Given the description of an element on the screen output the (x, y) to click on. 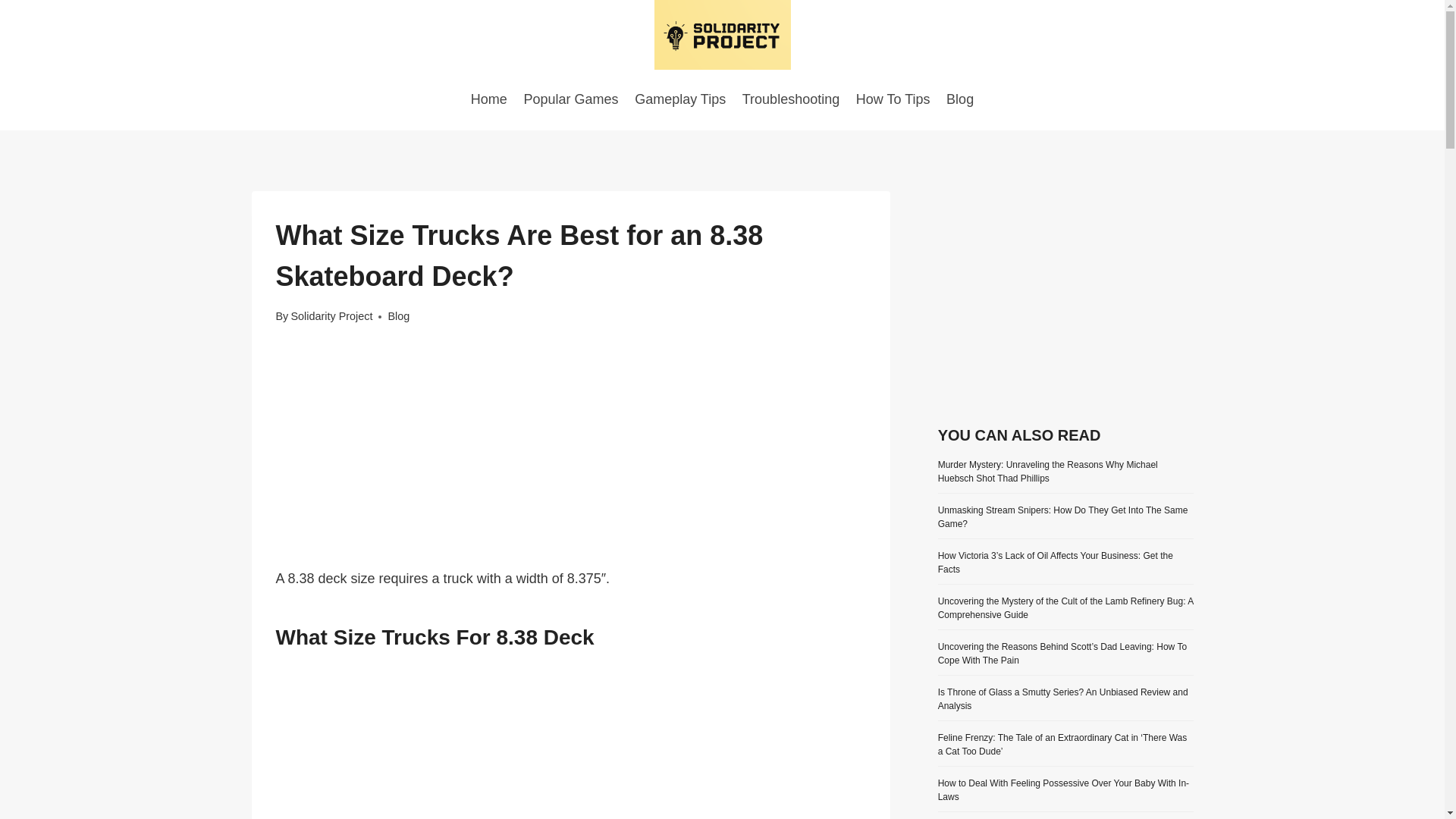
Advertisement (571, 748)
Troubleshooting (790, 98)
Home (489, 98)
Gameplay Tips (679, 98)
Advertisement (1065, 296)
Blog (398, 316)
Blog (959, 98)
Advertisement (571, 455)
Popular Games (571, 98)
How To Tips (892, 98)
